Given the description of an element on the screen output the (x, y) to click on. 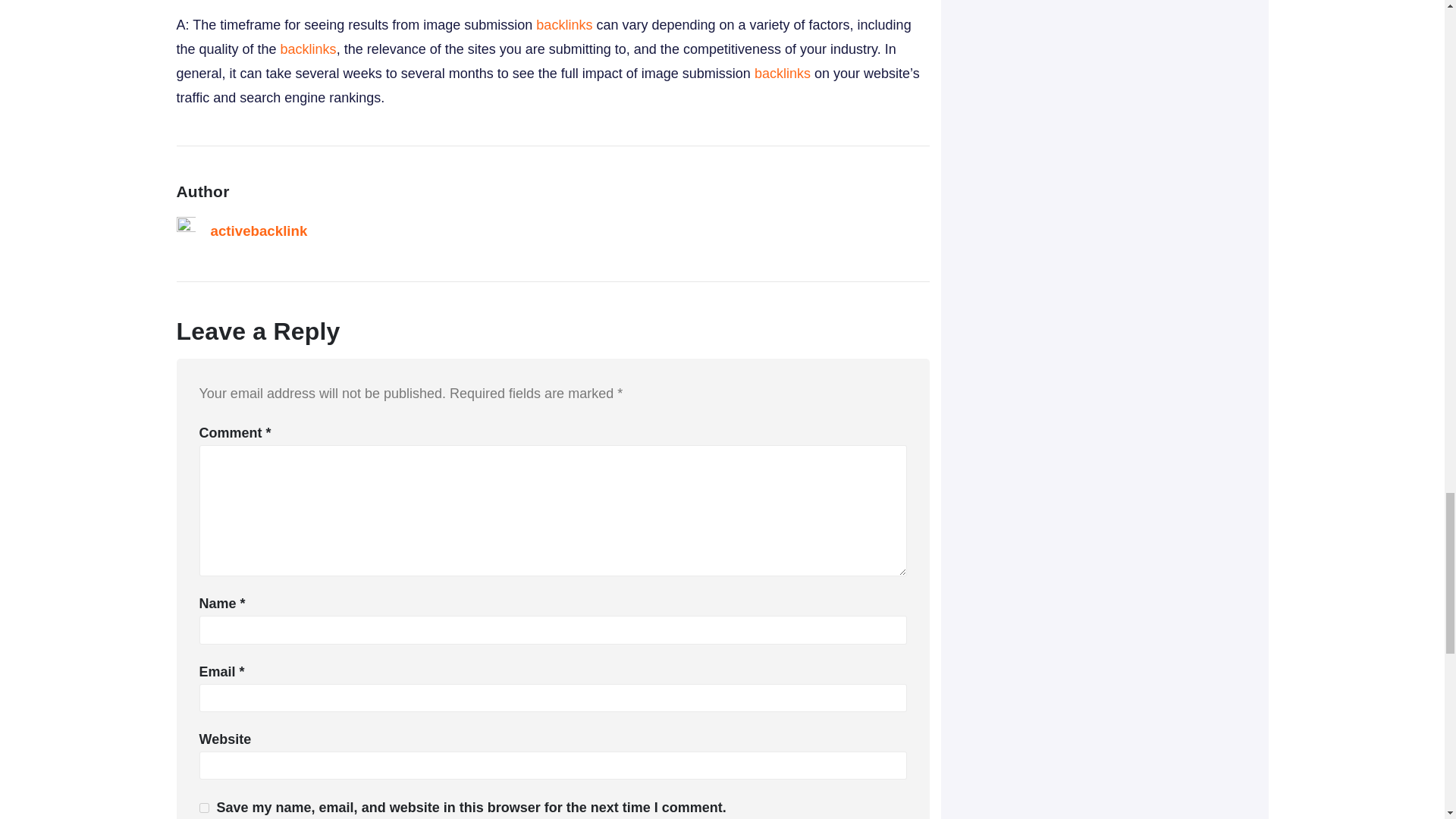
yes (203, 808)
Posts by activebacklink (259, 230)
